Given the description of an element on the screen output the (x, y) to click on. 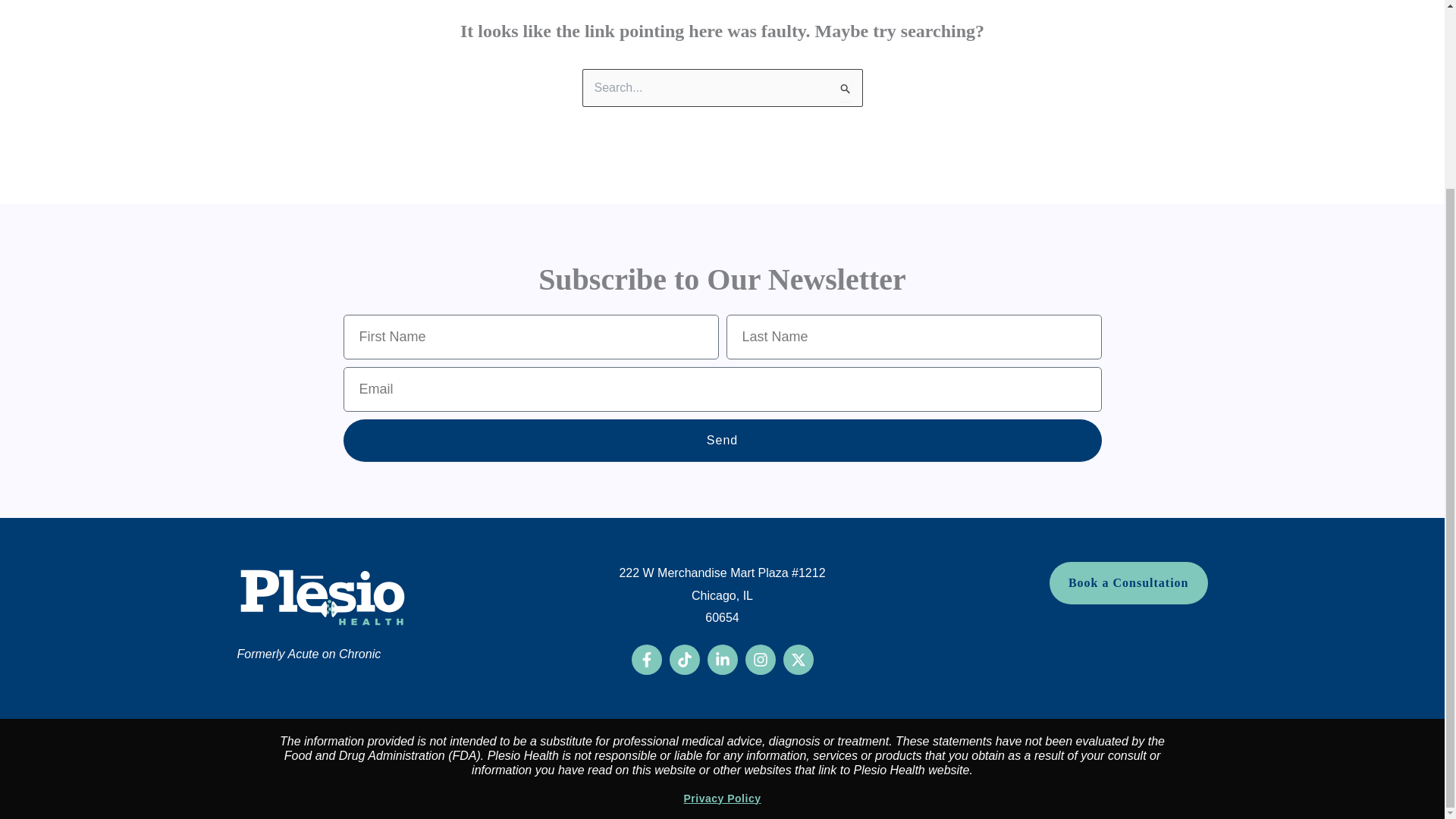
Instagram (759, 659)
Privacy Policy (722, 798)
Book a Consultation (1128, 582)
Facebook-f (645, 659)
Search (844, 89)
Search (844, 89)
Linkedin-in (721, 659)
X-twitter (797, 659)
Tiktok (683, 659)
Search (844, 89)
Send (721, 440)
